Given the description of an element on the screen output the (x, y) to click on. 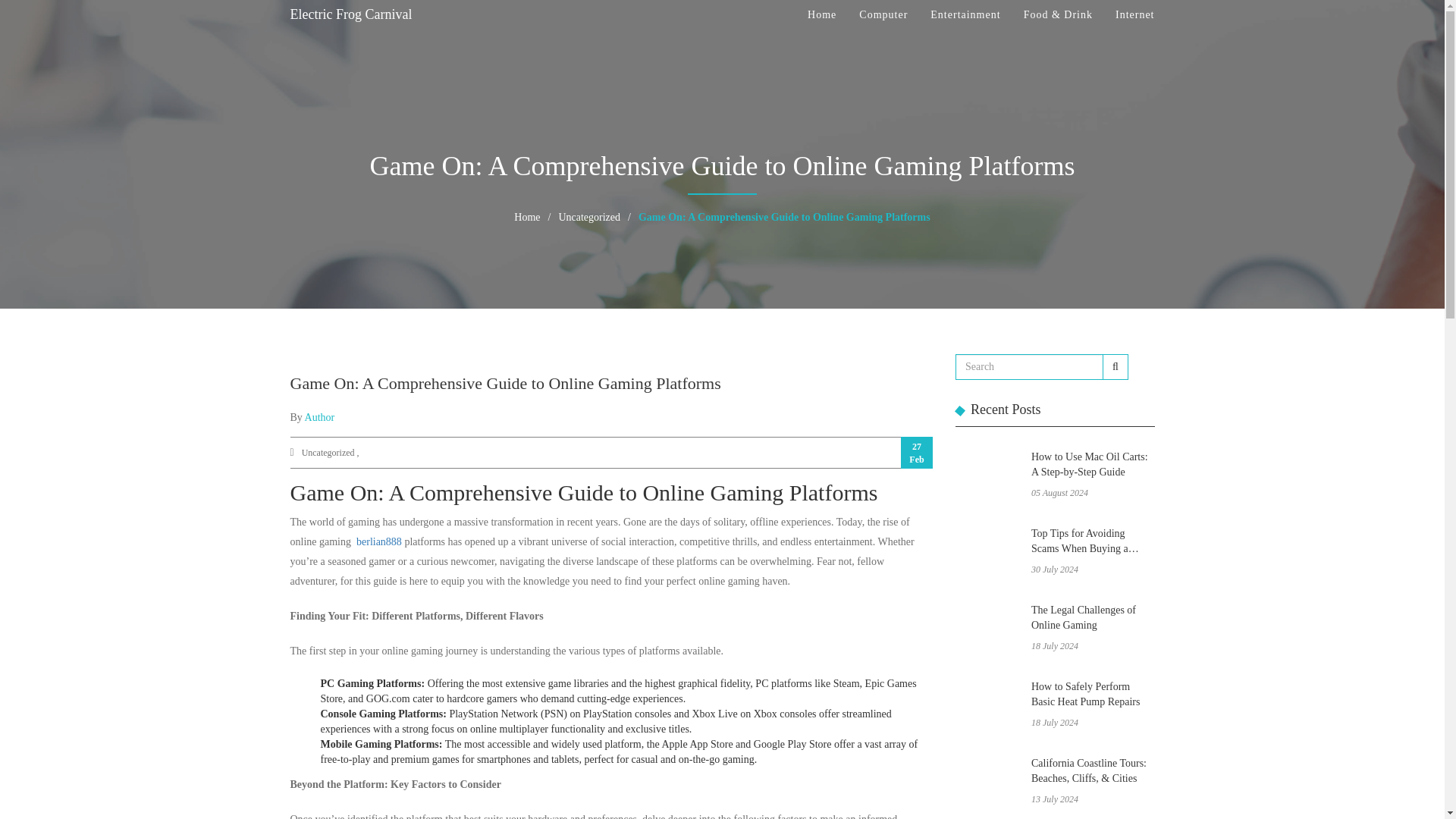
The Legal Challenges of Online Gaming (1092, 618)
Game On: A Comprehensive Guide to Online Gaming Platforms (784, 216)
Home (821, 15)
berlian888 (378, 541)
Entertainment (965, 15)
Computer (883, 15)
Home (526, 216)
Internet (1134, 15)
Game On: A Comprehensive Guide to Online Gaming Platforms (504, 383)
